Given the description of an element on the screen output the (x, y) to click on. 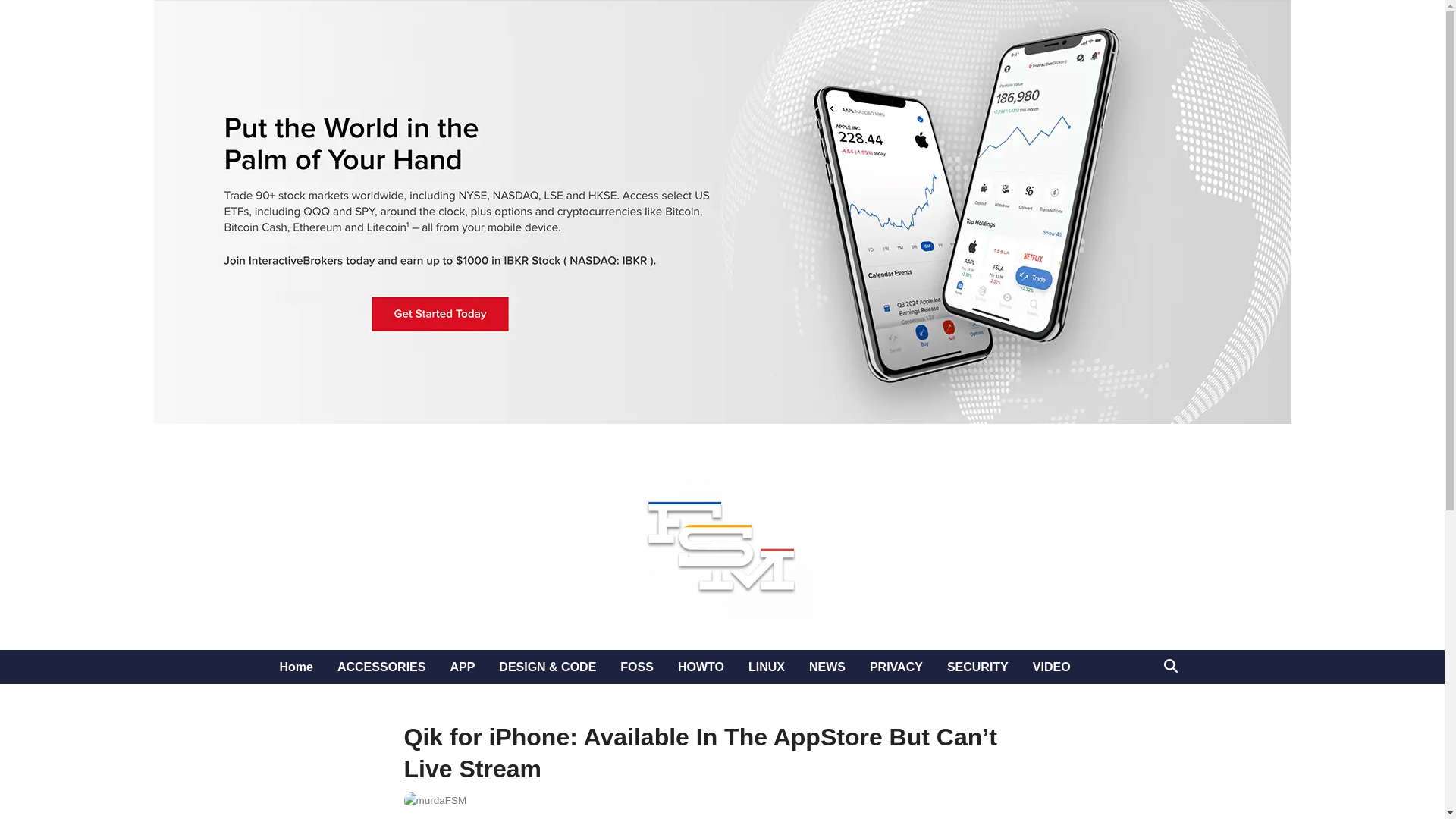
HOWTO (700, 666)
FOSS (636, 666)
APP (462, 666)
NEWS (826, 666)
PRIVACY (895, 666)
LINUX (766, 666)
ACCESSORIES (381, 666)
SECURITY (977, 666)
Home (295, 666)
VIDEO (1051, 666)
